Given the description of an element on the screen output the (x, y) to click on. 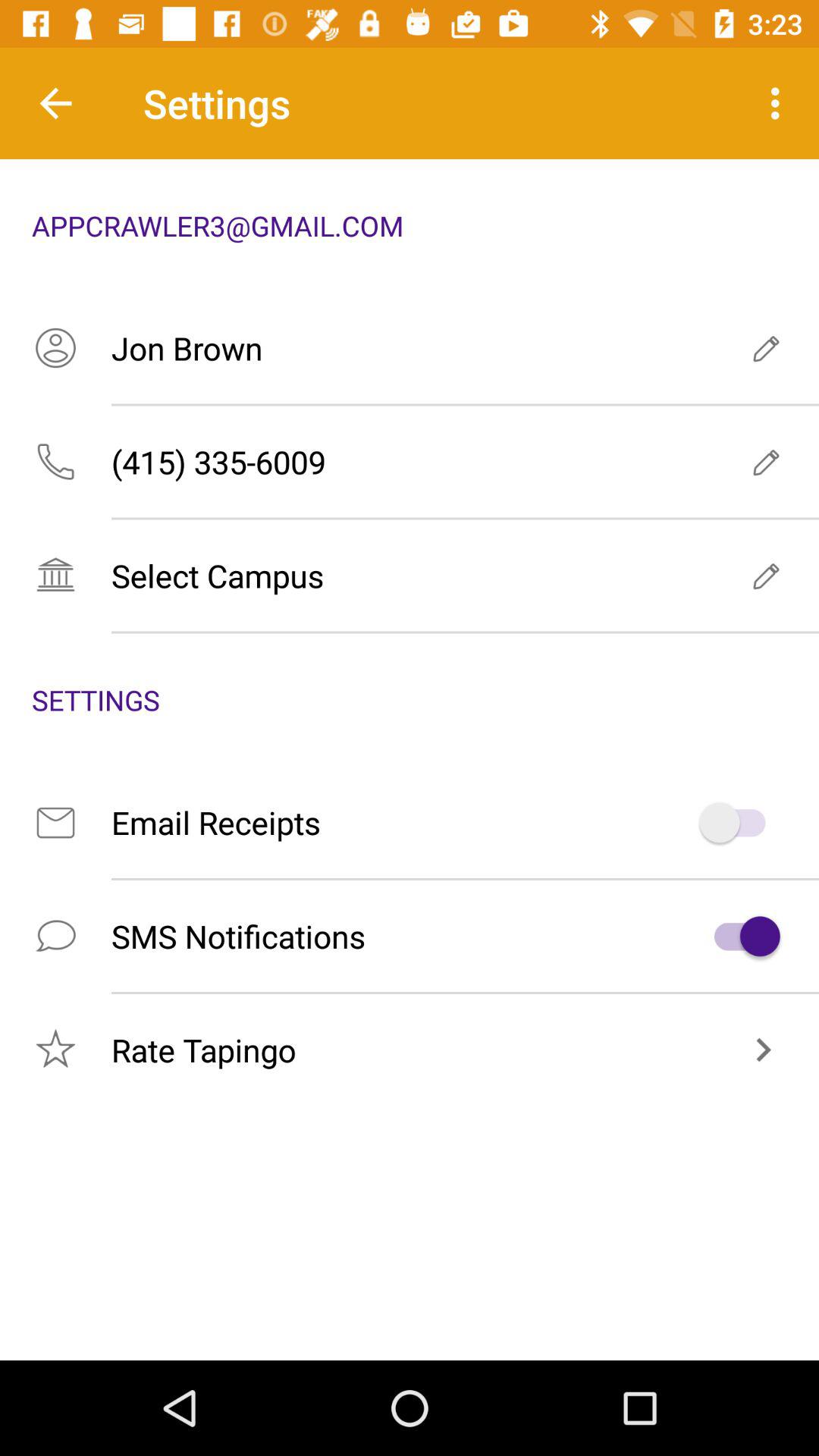
launch the icon above (415) 335-6009 item (409, 347)
